Given the description of an element on the screen output the (x, y) to click on. 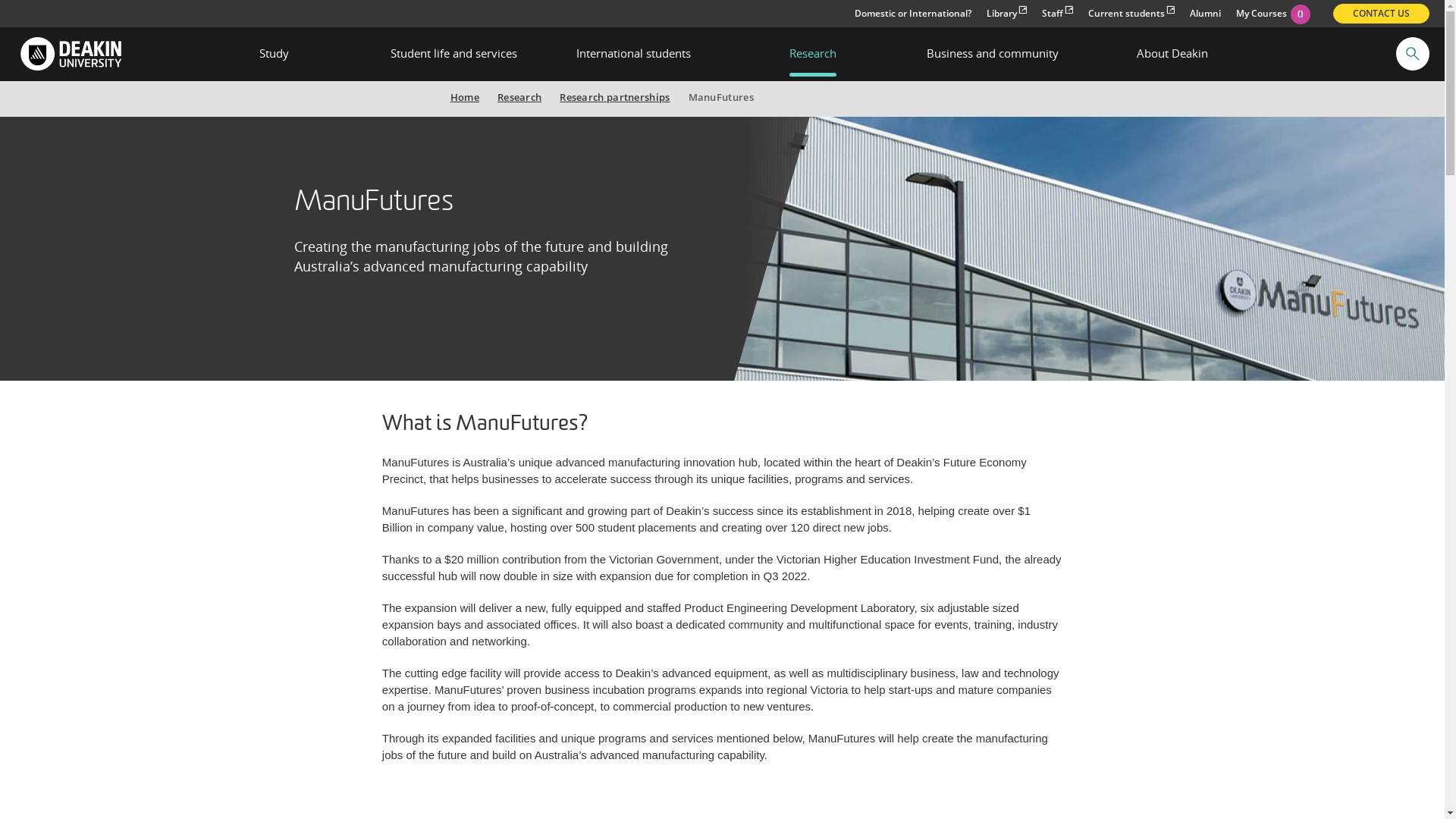
Alumni Element type: text (1204, 13)
CONTACT US Element type: text (1381, 13)
My Courses0 Element type: text (1273, 14)
Research Element type: text (519, 96)
Current students Element type: text (1131, 13)
Domestic or International? Element type: text (912, 13)
International students Element type: text (633, 53)
Research Element type: text (812, 53)
Business and community Element type: text (992, 53)
Deakin University Australia Element type: hover (69, 53)
About Deakin Element type: text (1171, 53)
Study Element type: text (274, 53)
ManuFutures Element type: text (720, 96)
Student life and services Element type: text (453, 53)
Staff Element type: text (1057, 13)
Home Element type: text (464, 96)
Library Element type: text (1006, 13)
Research partnerships Element type: text (614, 96)
ManuFutures Element type: hover (1089, 216)
